Given the description of an element on the screen output the (x, y) to click on. 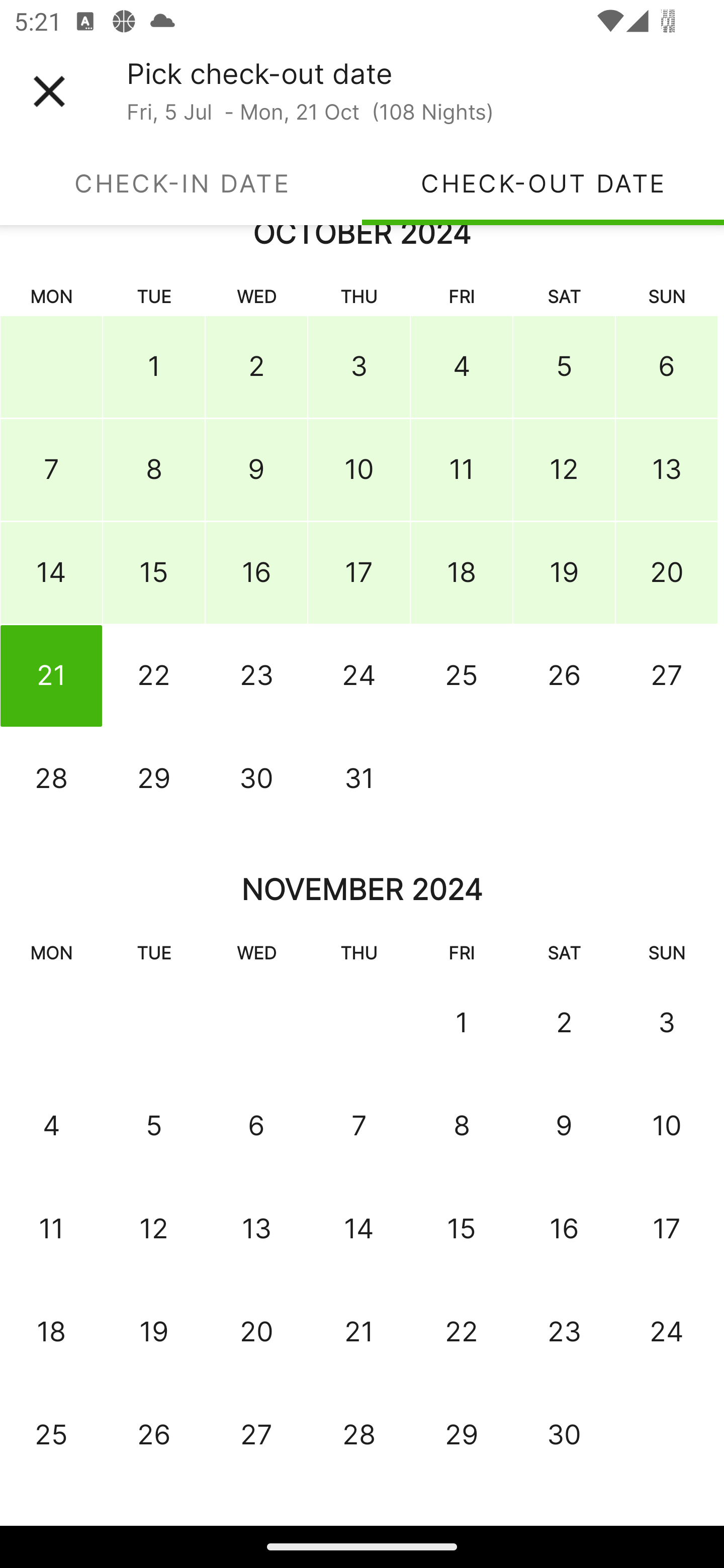
Check-in Date CHECK-IN DATE (181, 183)
